Given the description of an element on the screen output the (x, y) to click on. 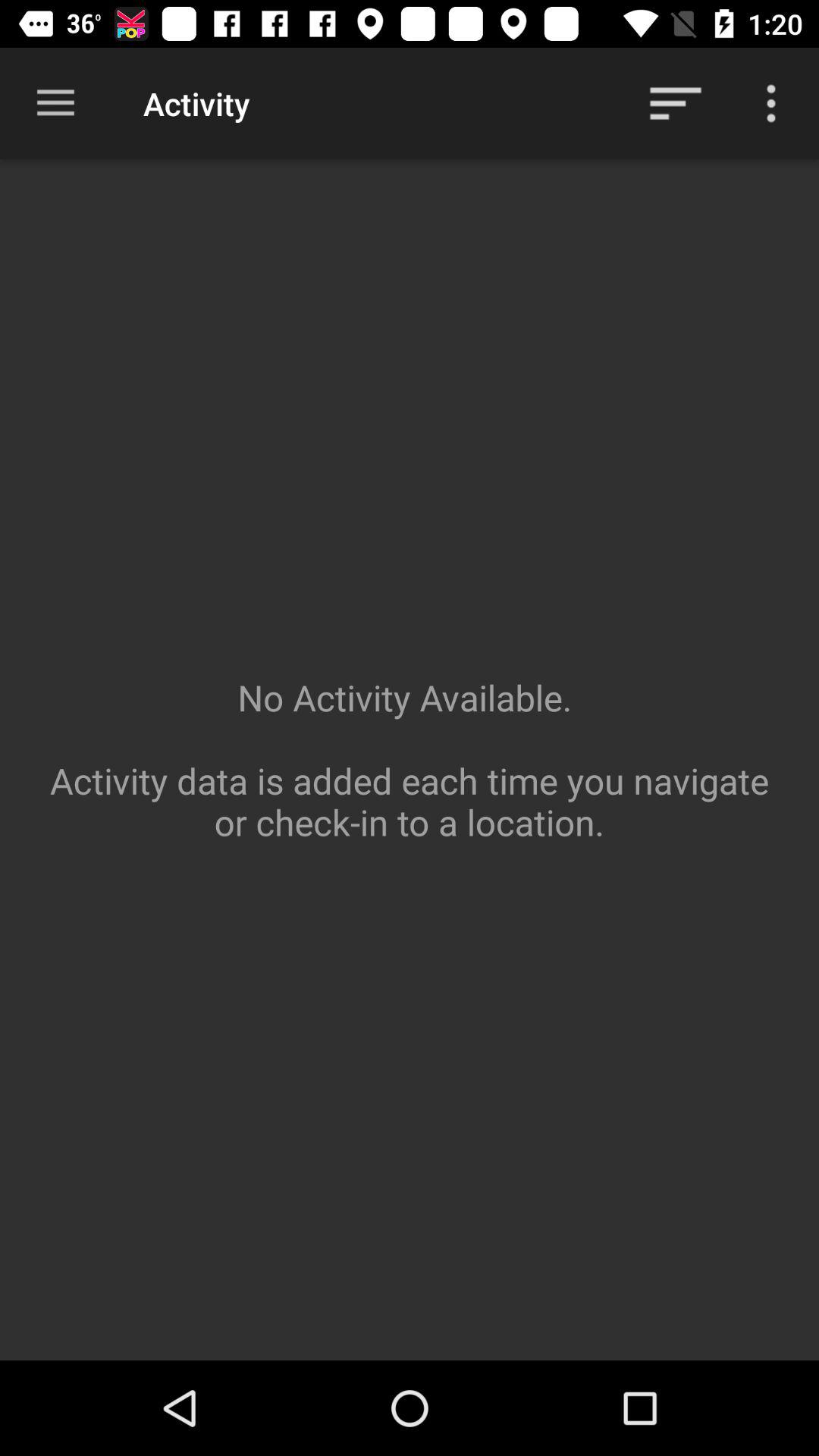
select icon next to activity icon (55, 103)
